Given the description of an element on the screen output the (x, y) to click on. 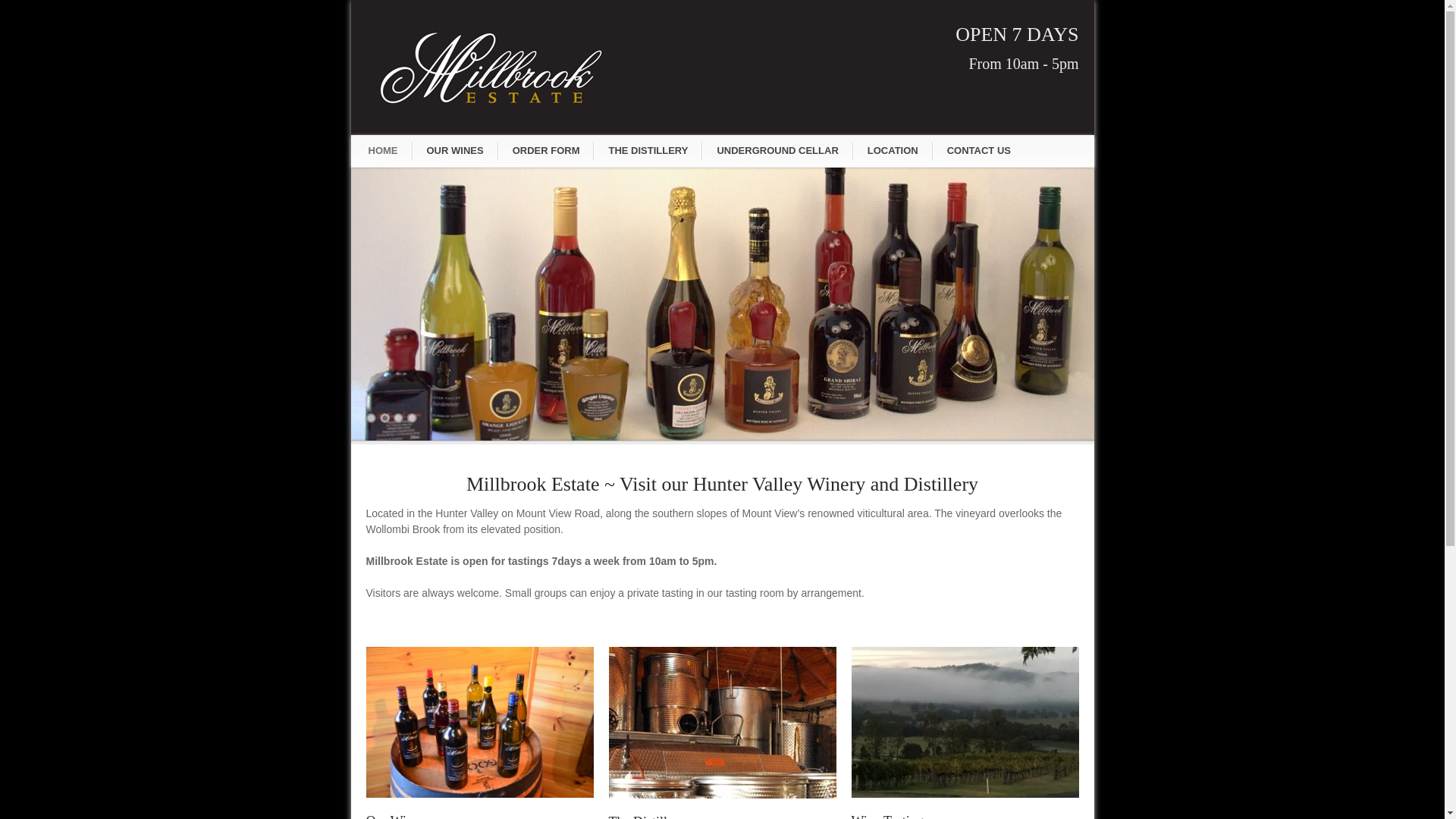
4 Element type: text (411, 418)
HOME Element type: text (383, 150)
UNDERGROUND CELLAR Element type: text (777, 150)
2 Element type: text (384, 418)
ORDER FORM Element type: text (546, 150)
1 Element type: text (370, 418)
3 Element type: text (397, 418)
LOCATION Element type: text (892, 150)
OUR WINES Element type: text (455, 150)
THE DISTILLERY Element type: text (647, 150)
CONTACT US Element type: text (978, 150)
